Given the description of an element on the screen output the (x, y) to click on. 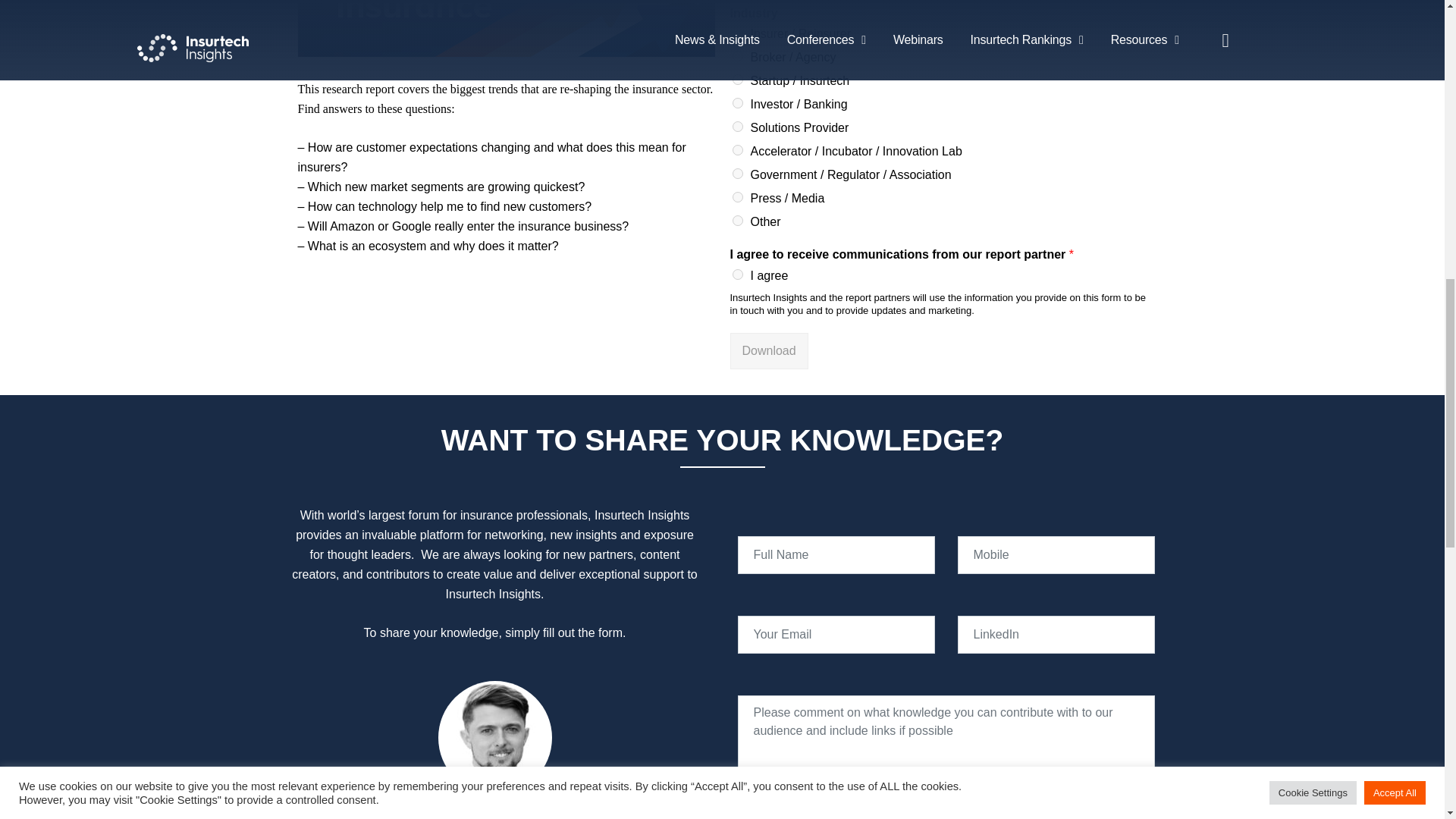
I agree (737, 274)
Other (737, 220)
Solutions Provider (737, 126)
